Given the description of an element on the screen output the (x, y) to click on. 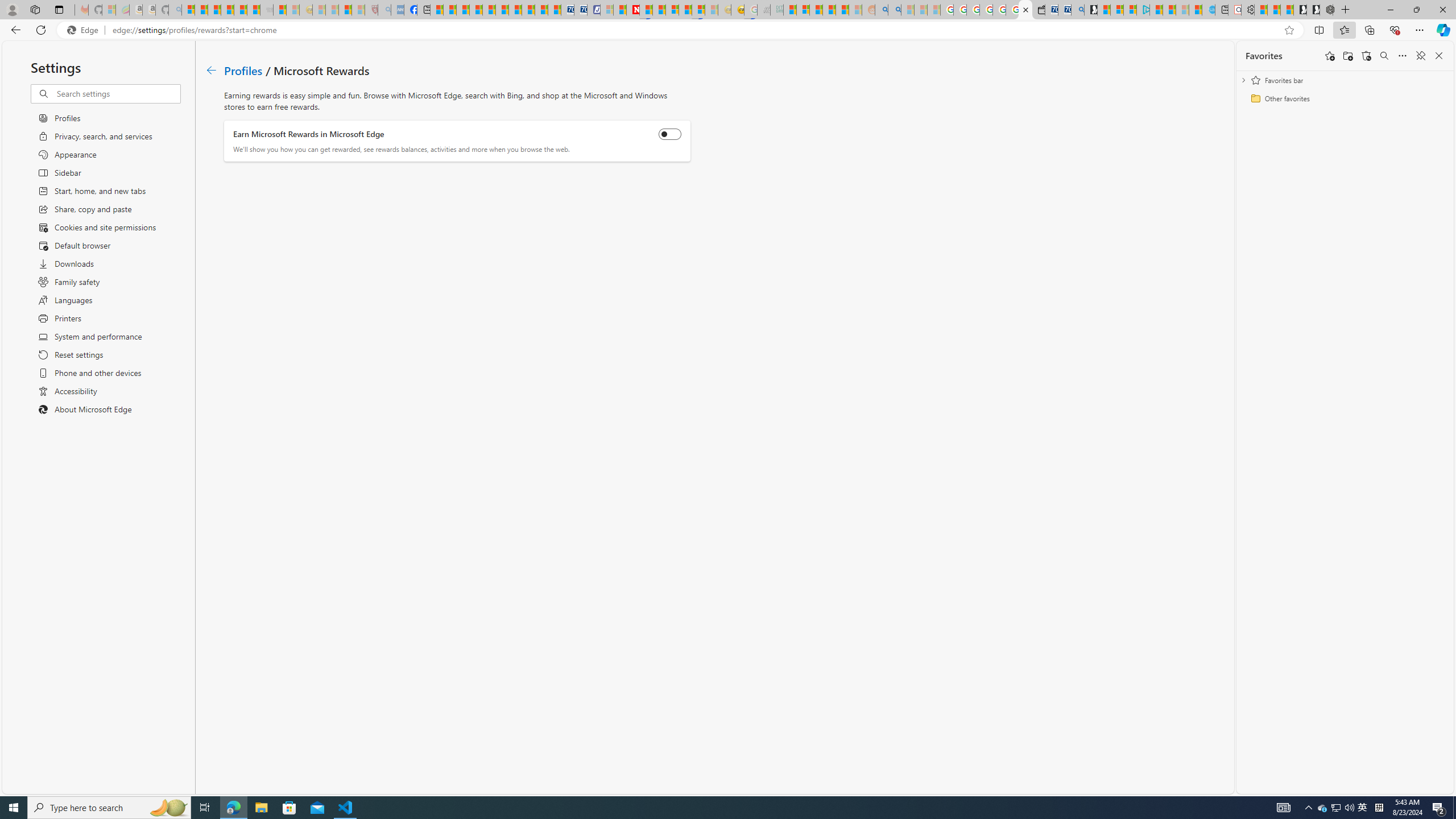
Cheap Hotels - Save70.com (580, 9)
Edge (84, 29)
Utah sues federal government - Search (894, 9)
